Given the description of an element on the screen output the (x, y) to click on. 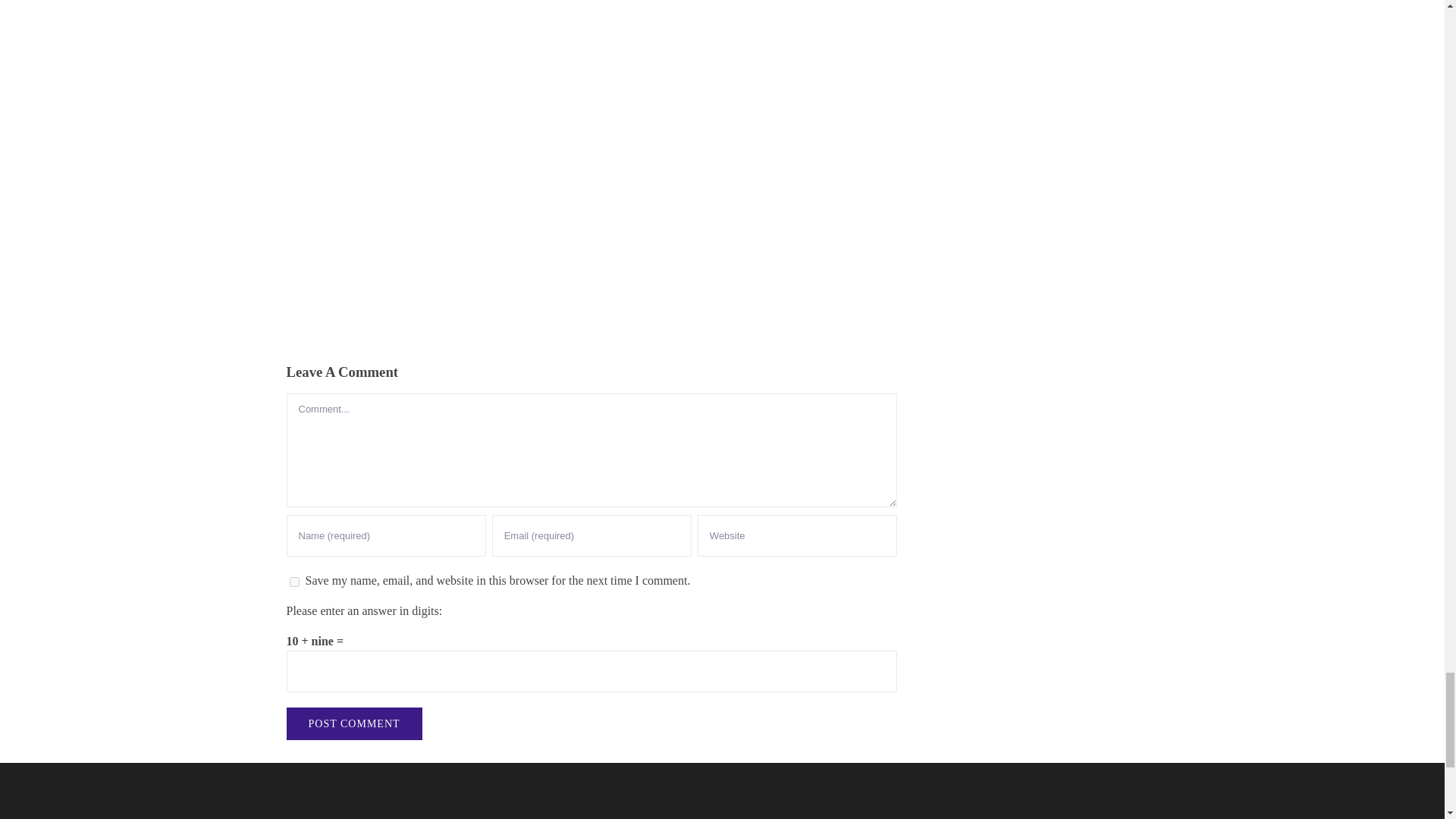
Post Comment (354, 723)
yes (294, 582)
